Given the description of an element on the screen output the (x, y) to click on. 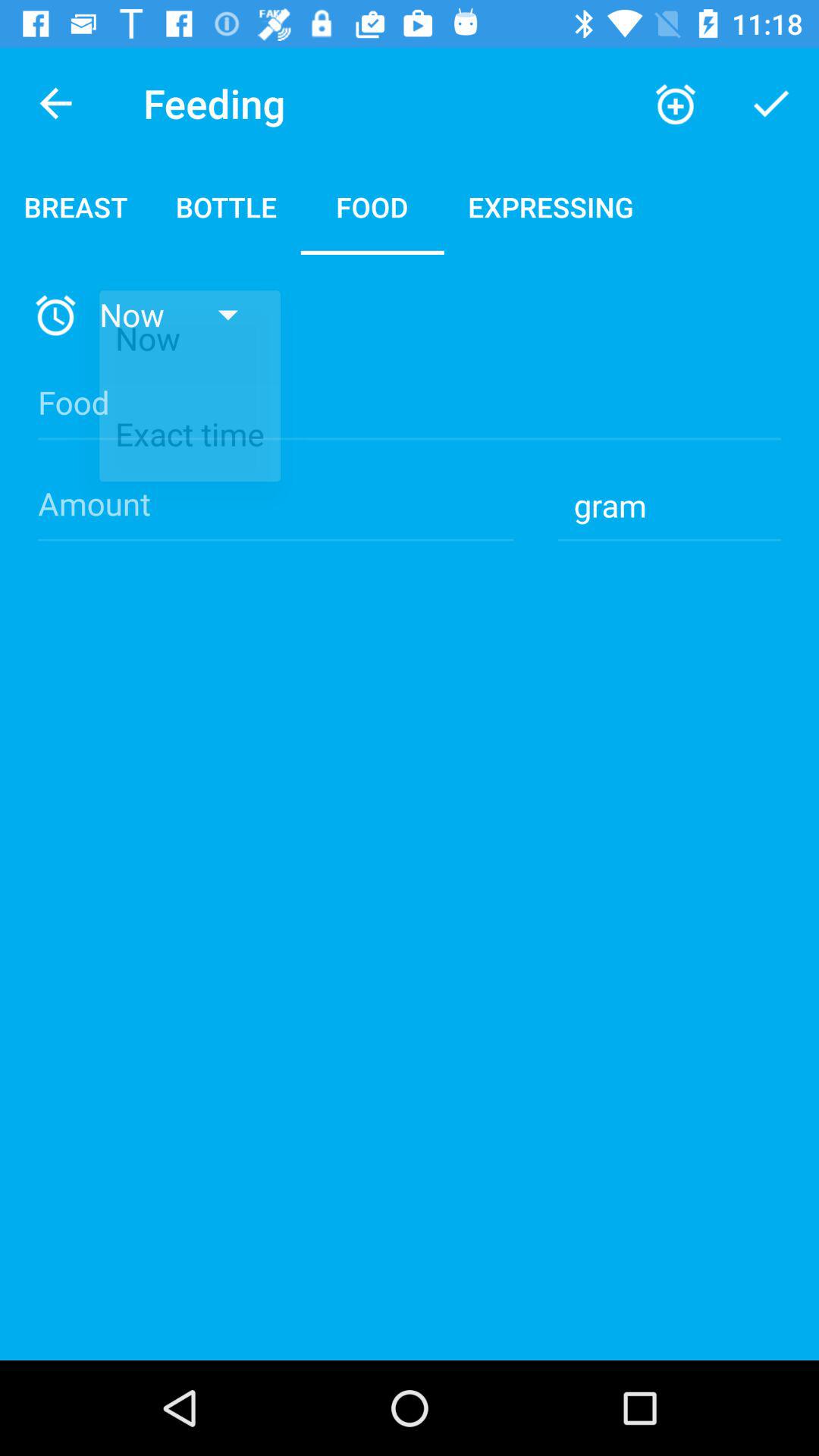
select food for view (409, 415)
